Given the description of an element on the screen output the (x, y) to click on. 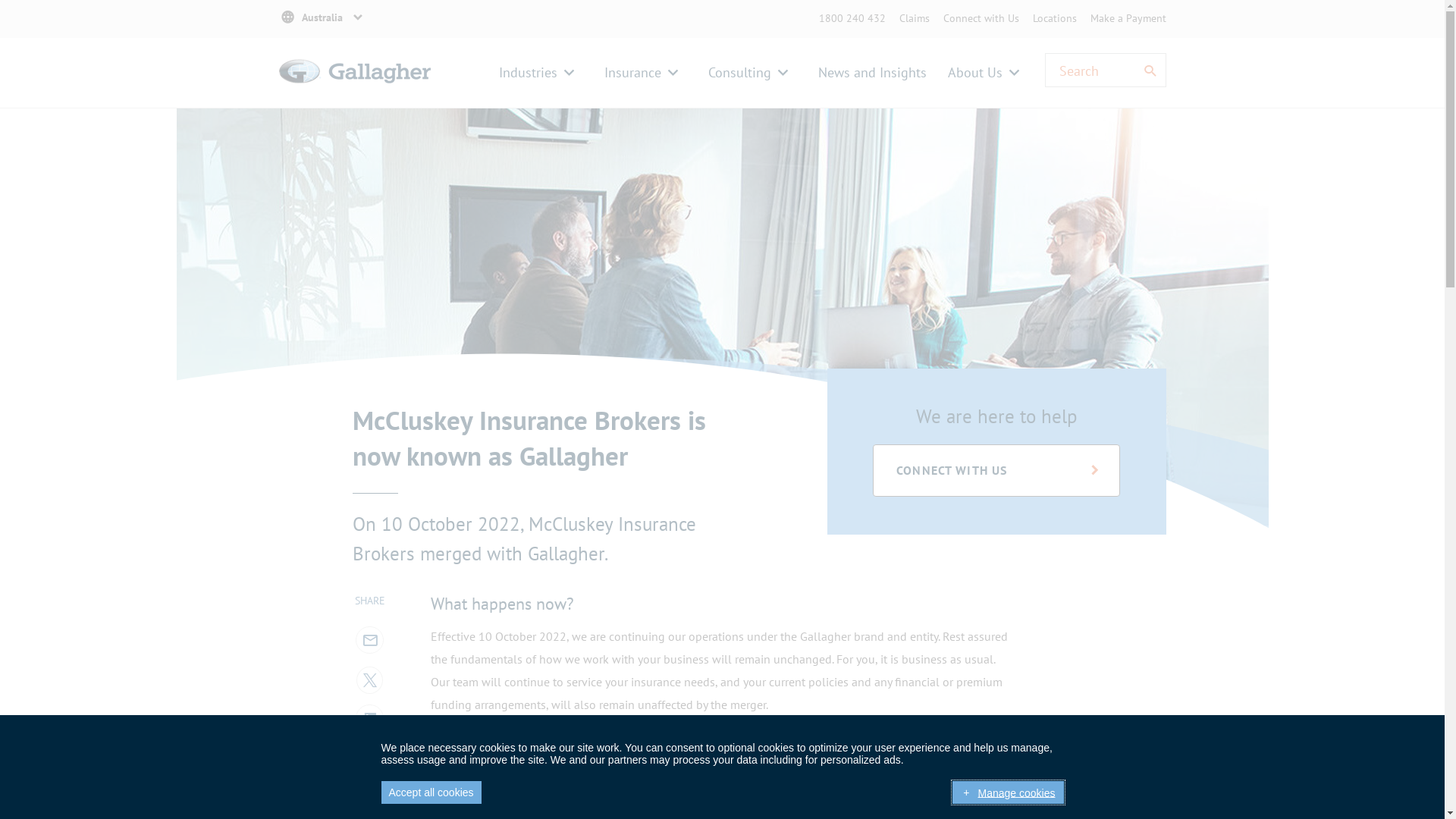
CONNECT WITH US Element type: text (996, 470)
Manage cookies Element type: text (1007, 792)
Share this via LinkedIn Element type: hover (368, 716)
Locations Element type: text (1054, 18)
Share this via email Element type: hover (368, 638)
Make a Payment Element type: text (1128, 18)
Accept all cookies Element type: text (430, 792)
Share this via X Element type: hover (369, 677)
News and Insights Element type: text (871, 73)
Connect with Us Element type: text (981, 18)
Gallagher Australia Element type: hover (354, 89)
1800 240 432 Element type: text (852, 18)
Claims Element type: text (914, 18)
